Given the description of an element on the screen output the (x, y) to click on. 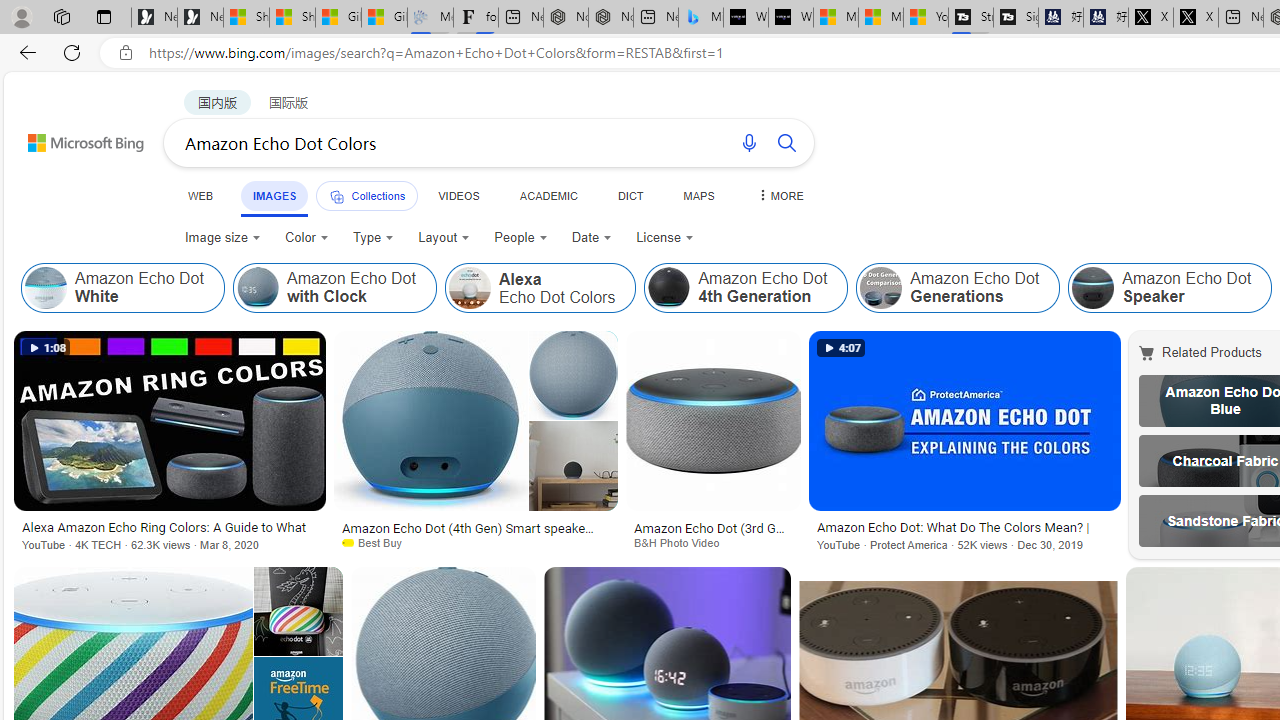
Amazon Echo Dot Generations (881, 287)
Type (373, 237)
Date (591, 237)
MAPS (698, 195)
Amazon Echo Dot with Clock (257, 287)
